Given the description of an element on the screen output the (x, y) to click on. 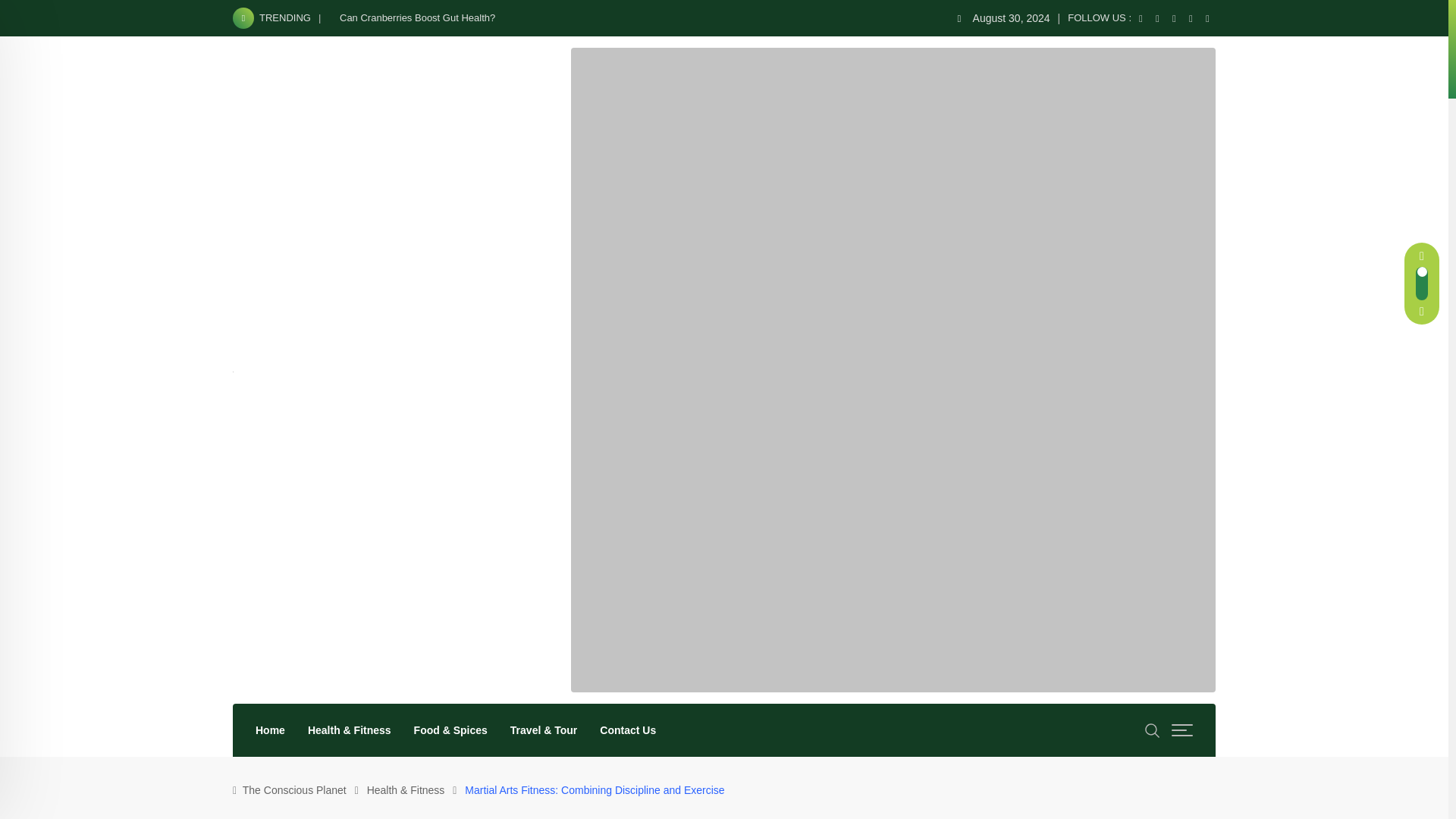
Can Cranberries Boost Gut Health? (417, 17)
The Conscious Planet (294, 789)
Contact Us (627, 729)
Can Cranberries Boost Gut Health? (937, 471)
Fermented Foods For Better Digestion In Summer (937, 570)
Search (1152, 729)
Go to The Conscious Planet. (294, 789)
Home (270, 729)
